Given the description of an element on the screen output the (x, y) to click on. 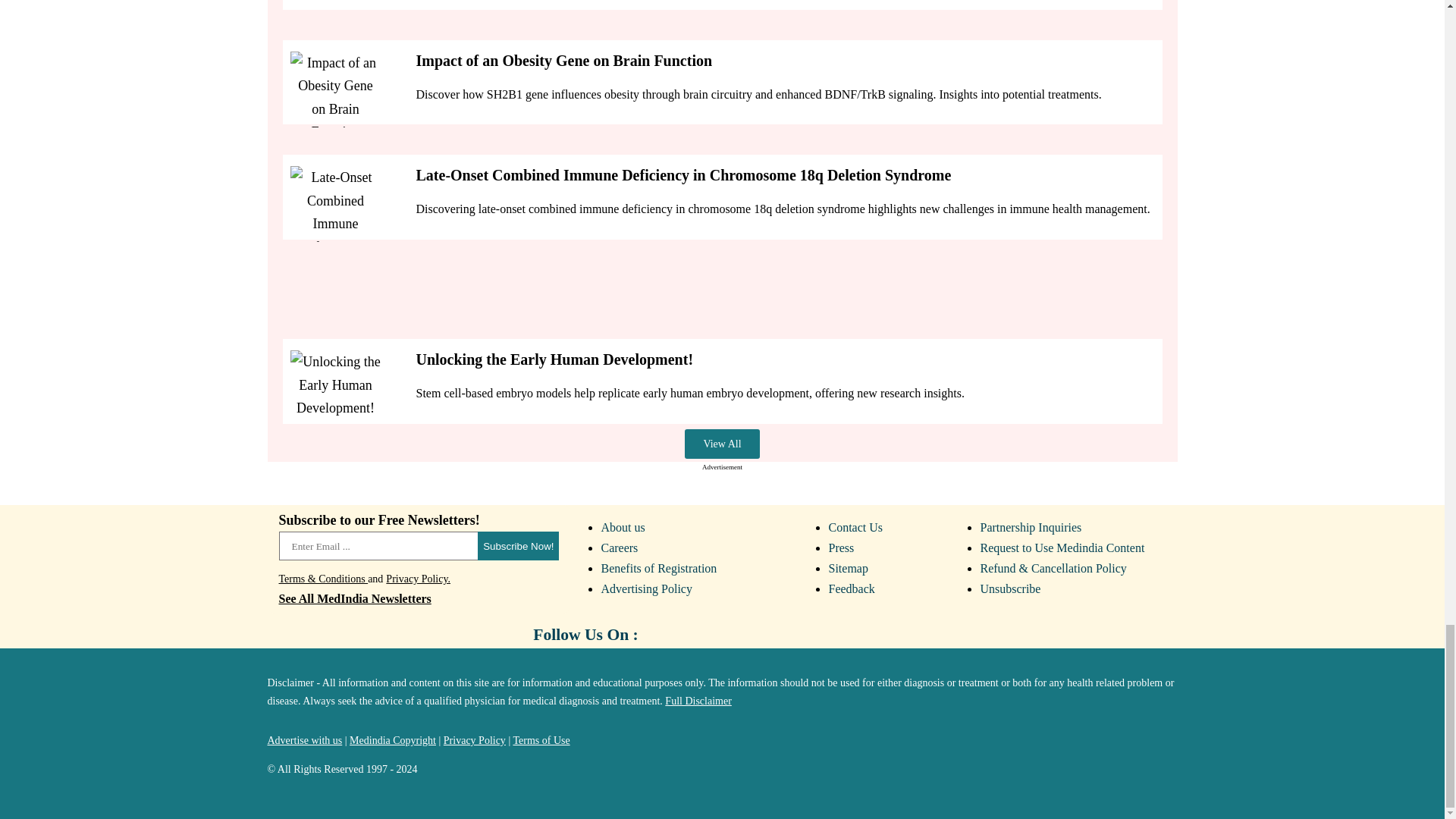
Impact of an Obesity Gene on Brain Function (334, 89)
Subscribe Now! (518, 545)
